Given the description of an element on the screen output the (x, y) to click on. 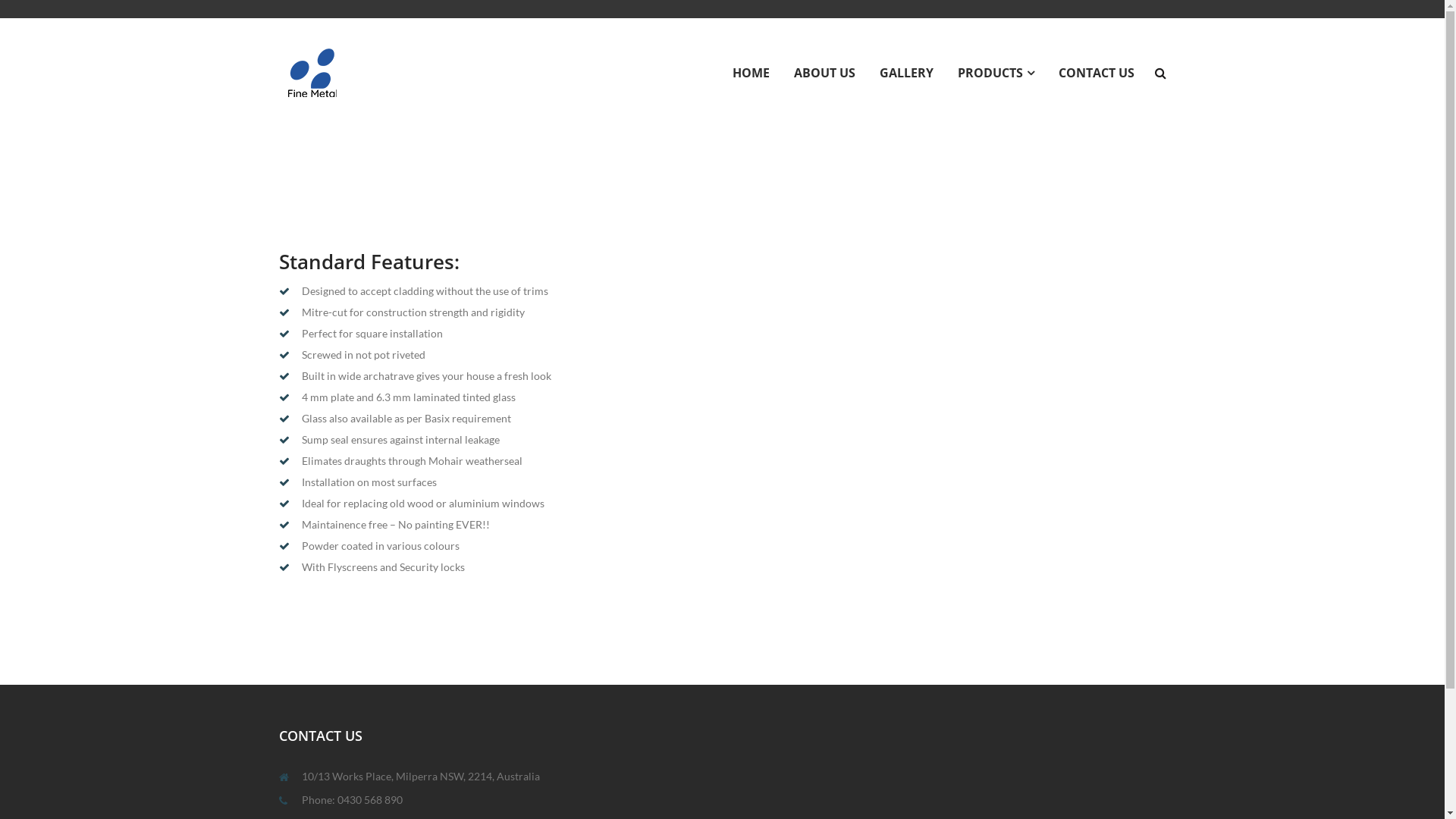
GALLERY Element type: text (906, 72)
ABOUT US Element type: text (823, 72)
Fine Metal Cladding Element type: hover (312, 71)
HOME Element type: text (750, 72)
PRODUCTS Element type: text (995, 72)
CONTACT US Element type: text (1096, 72)
